Given the description of an element on the screen output the (x, y) to click on. 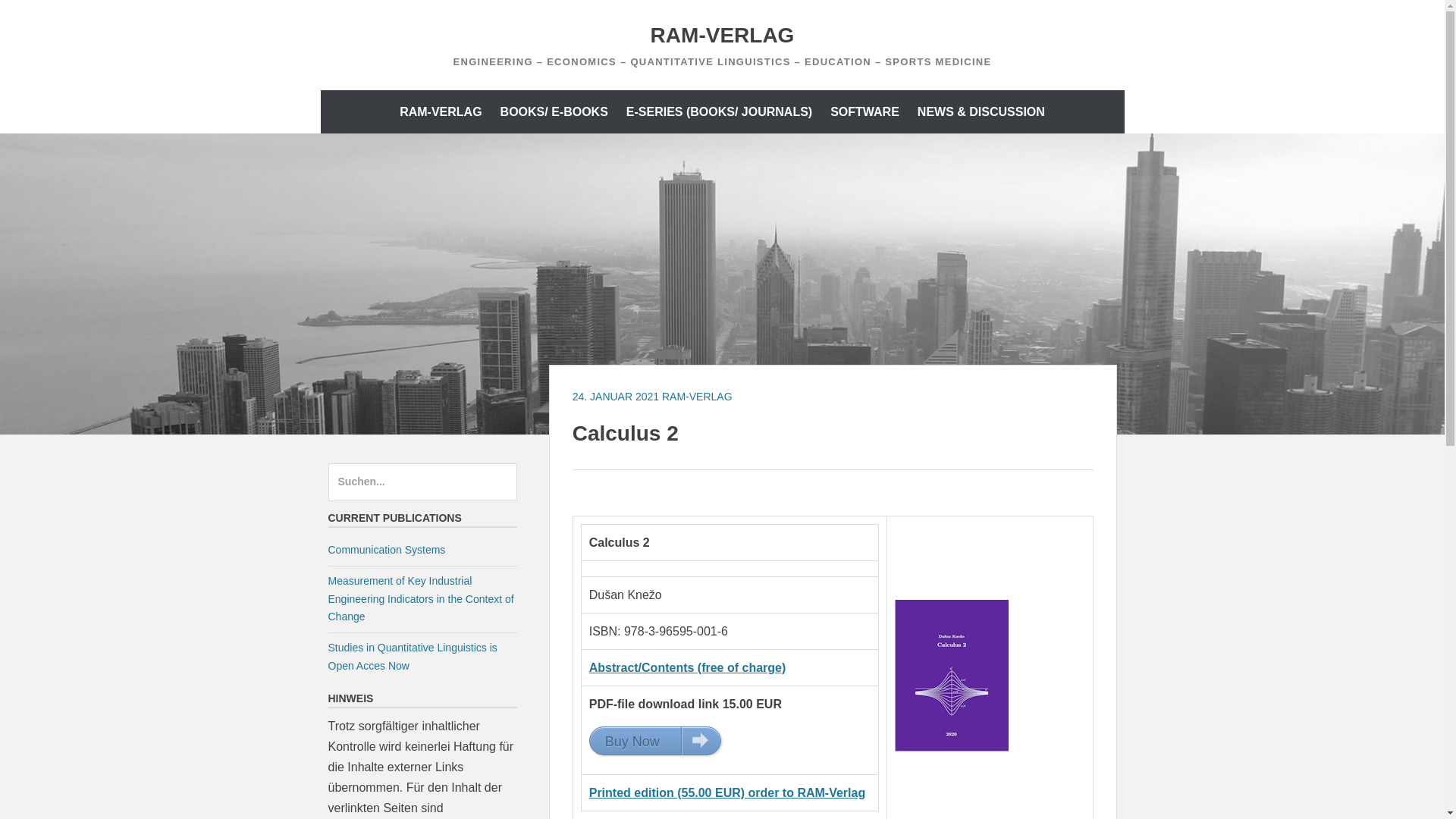
SOFTWARE (864, 111)
Suche nach: (421, 482)
RAM-VERLAG (440, 111)
24. JANUAR 2021 (615, 396)
RAM-VERLAG (722, 34)
